Given the description of an element on the screen output the (x, y) to click on. 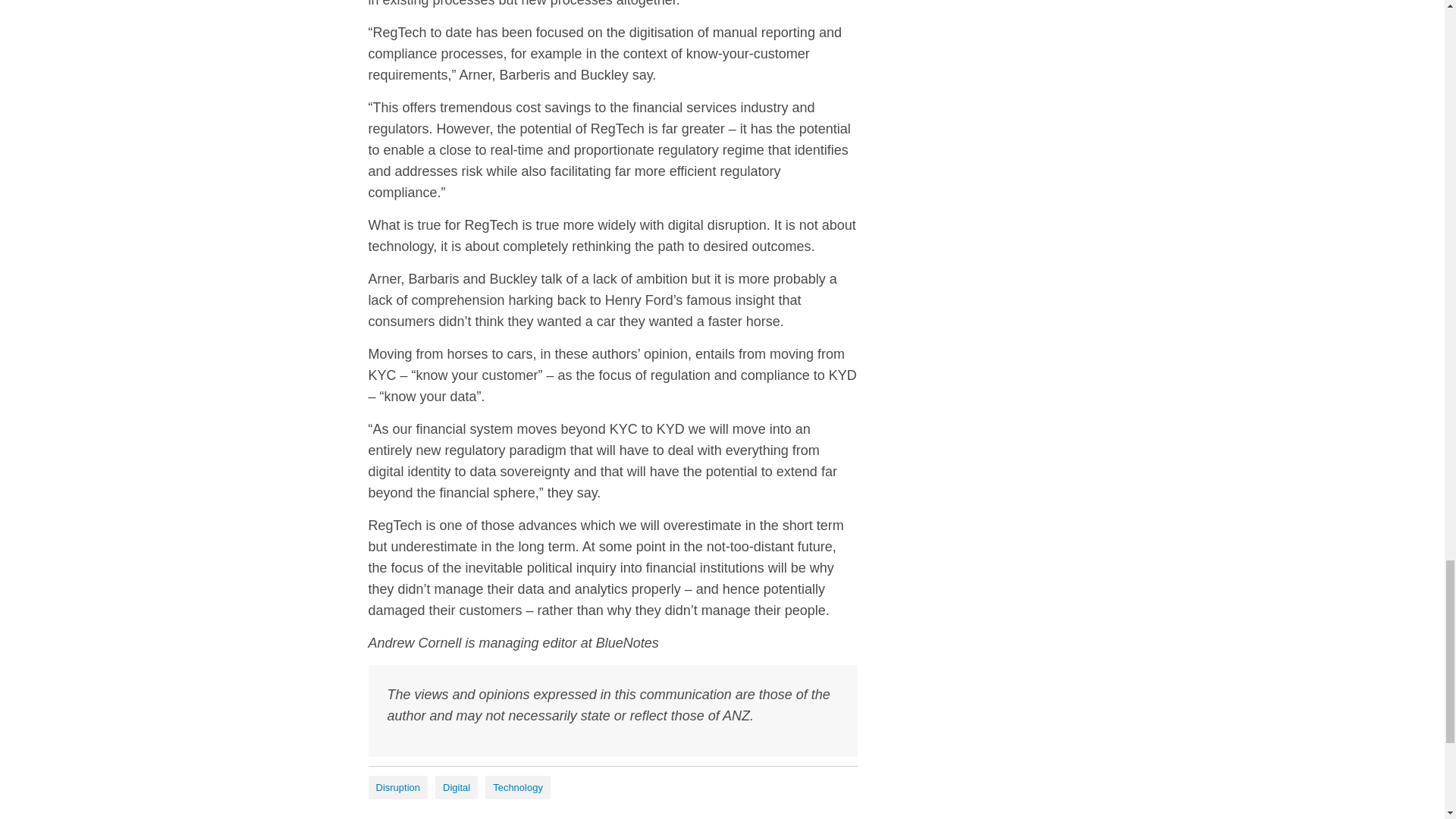
Disruption (398, 787)
Technology (517, 787)
Digital (456, 787)
